Given the description of an element on the screen output the (x, y) to click on. 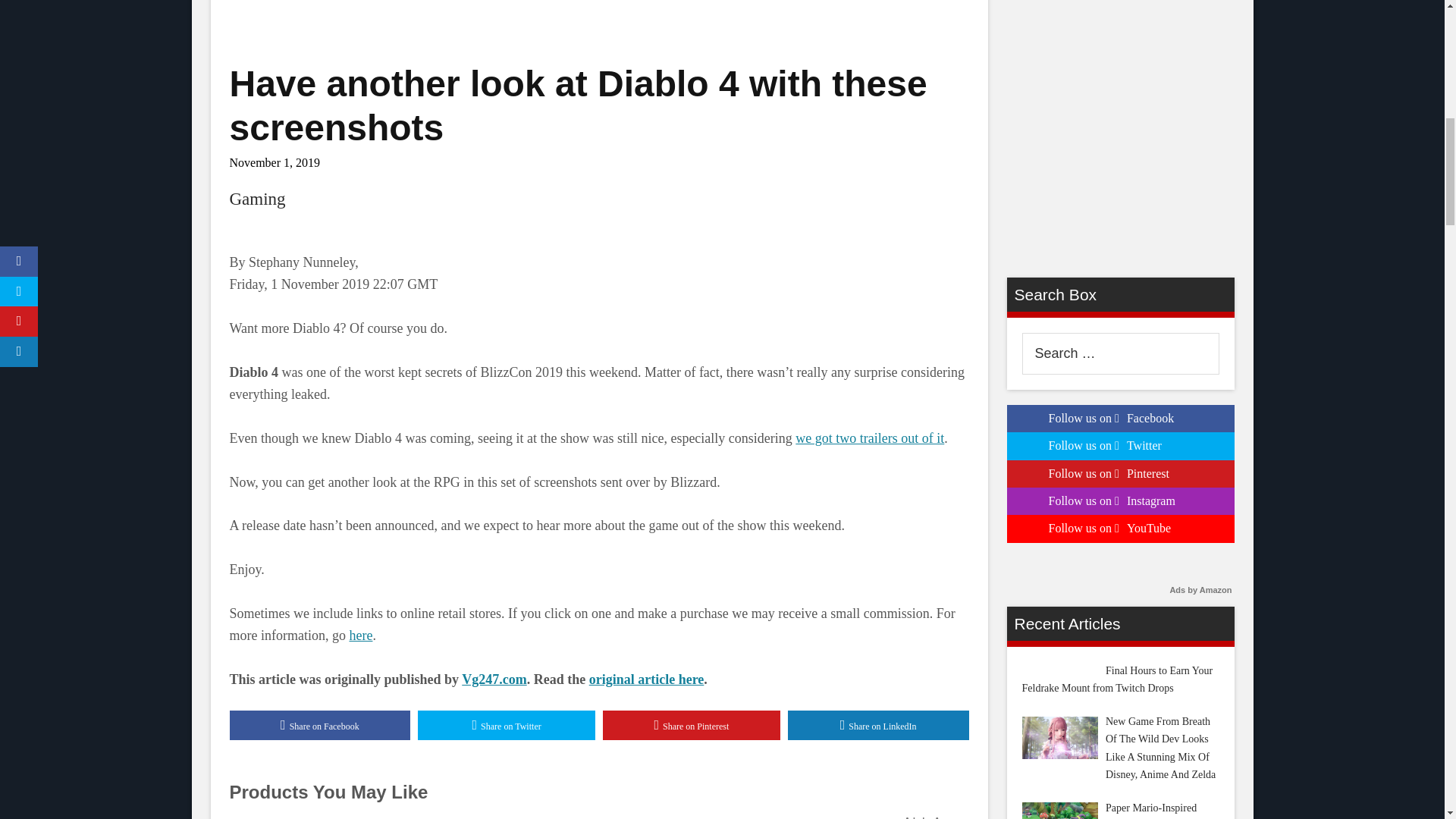
Gaming (256, 198)
Advertisement (598, 19)
